Given the description of an element on the screen output the (x, y) to click on. 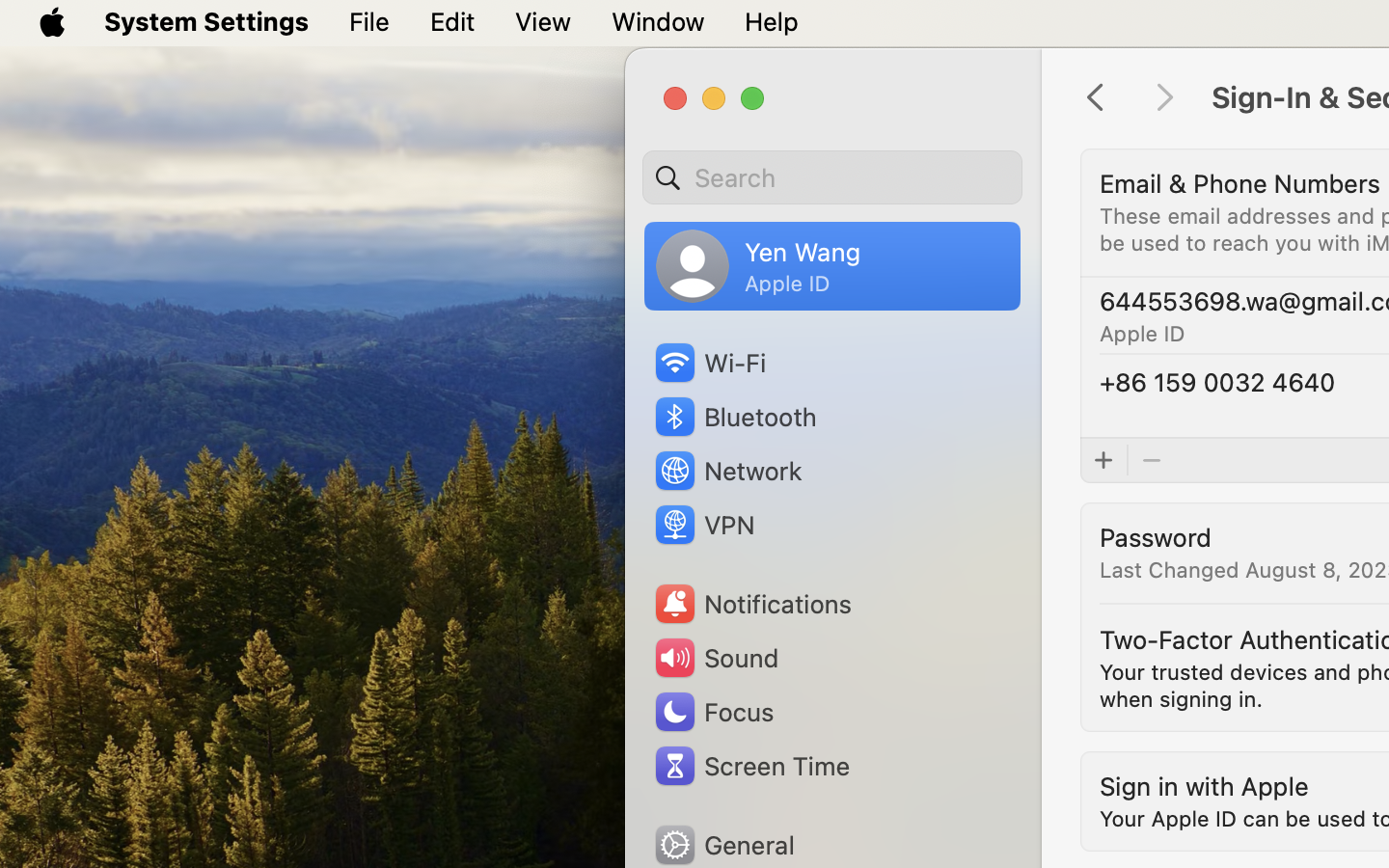
Wi‑Fi Element type: AXStaticText (708, 362)
General Element type: AXStaticText (723, 844)
Network Element type: AXStaticText (727, 470)
Sound Element type: AXStaticText (715, 657)
Focus Element type: AXStaticText (712, 711)
